Given the description of an element on the screen output the (x, y) to click on. 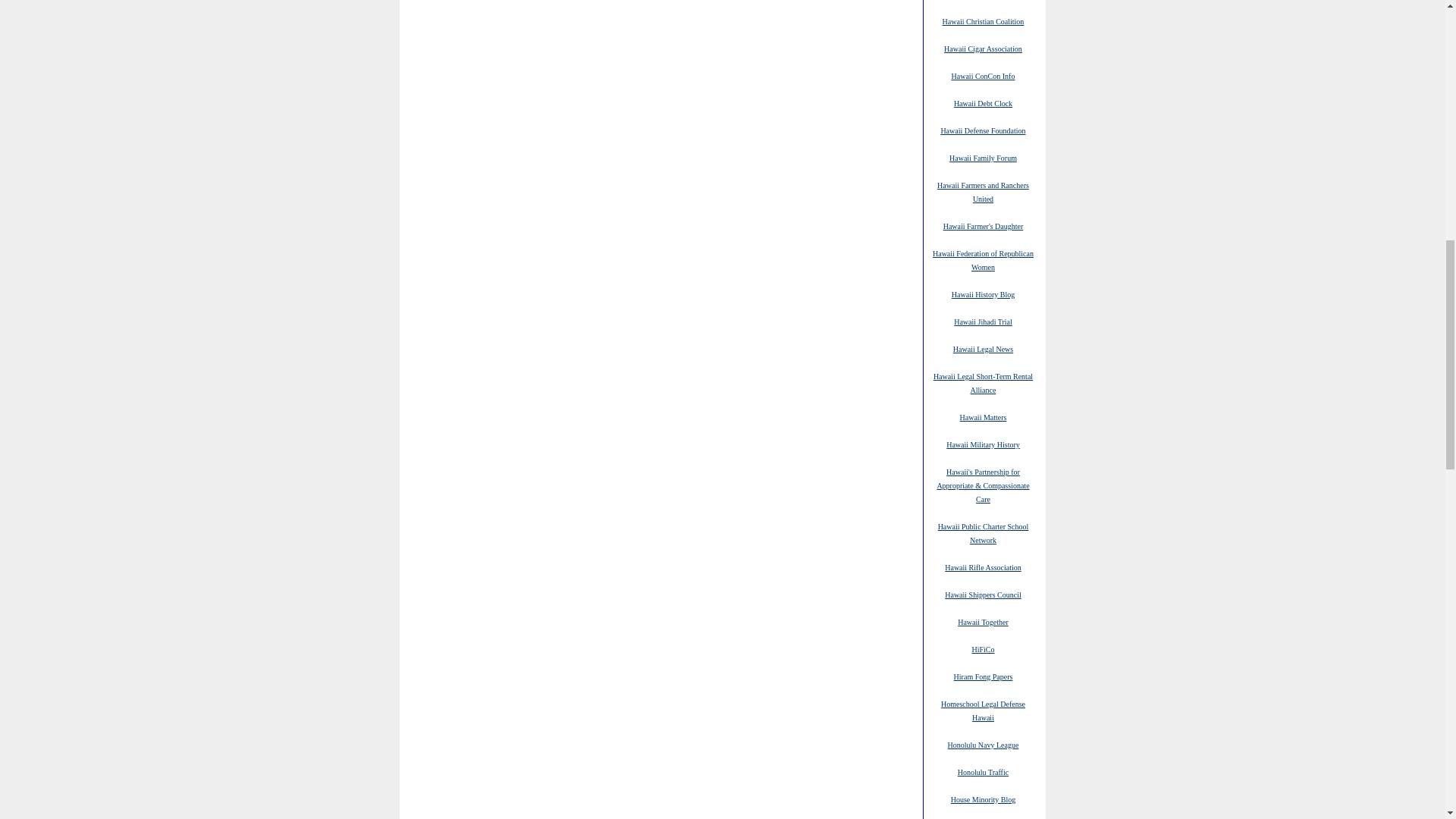
Hawaii ConCon Info (983, 75)
Hawaii Christian Coalition (983, 20)
Hawaii History Blog (983, 294)
Hawaii Farmer's Daughter (983, 225)
Hawaii Farmers and Ranchers United (983, 191)
Hawaii Cigar Association (982, 48)
Hawaii Family Forum (982, 157)
Hawaii Debt Clock (982, 102)
Hawaii Federation of Republican Women (983, 259)
Hawaii Defense Foundation (982, 130)
